Given the description of an element on the screen output the (x, y) to click on. 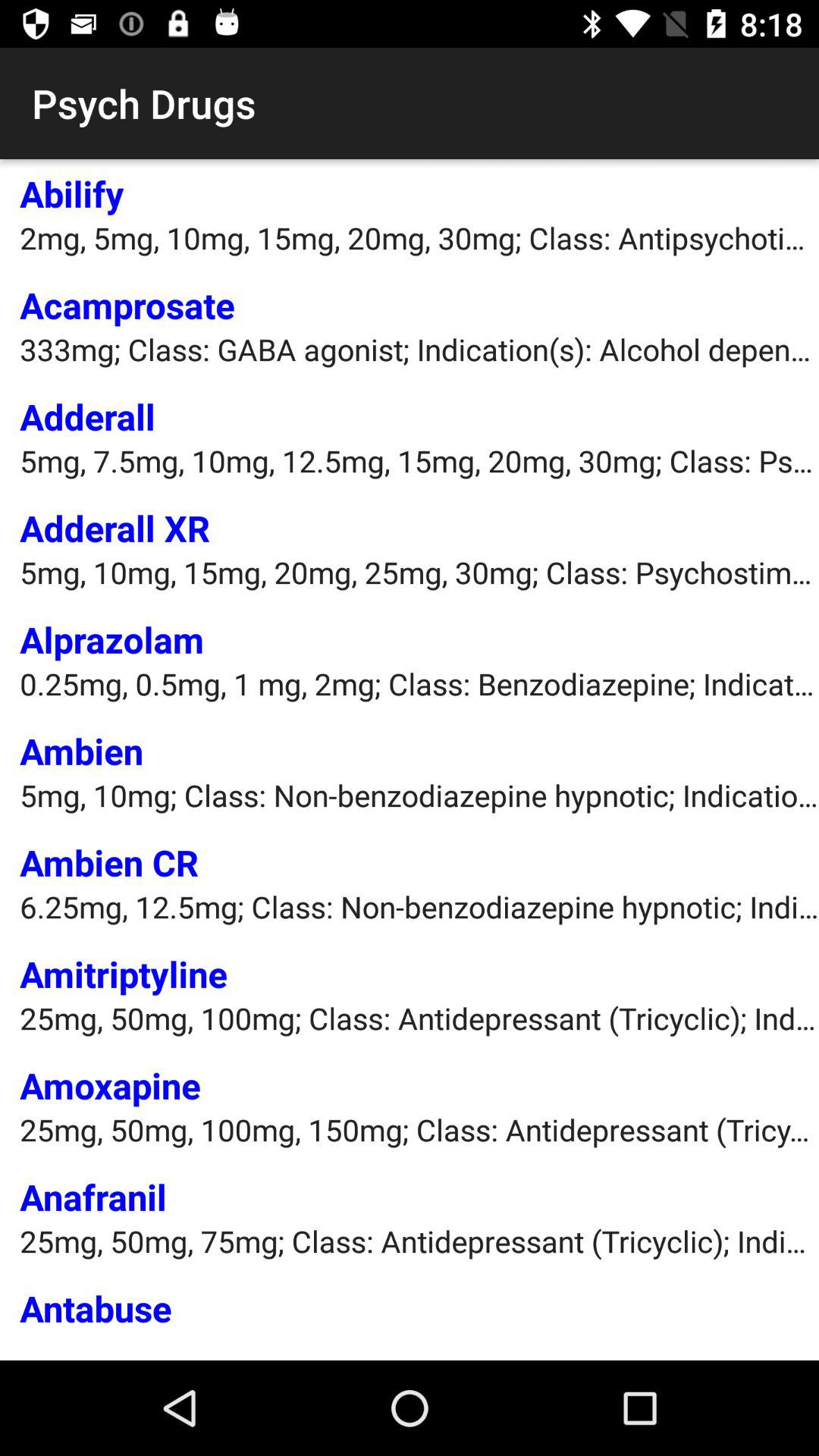
turn off alprazolam item (111, 639)
